Given the description of an element on the screen output the (x, y) to click on. 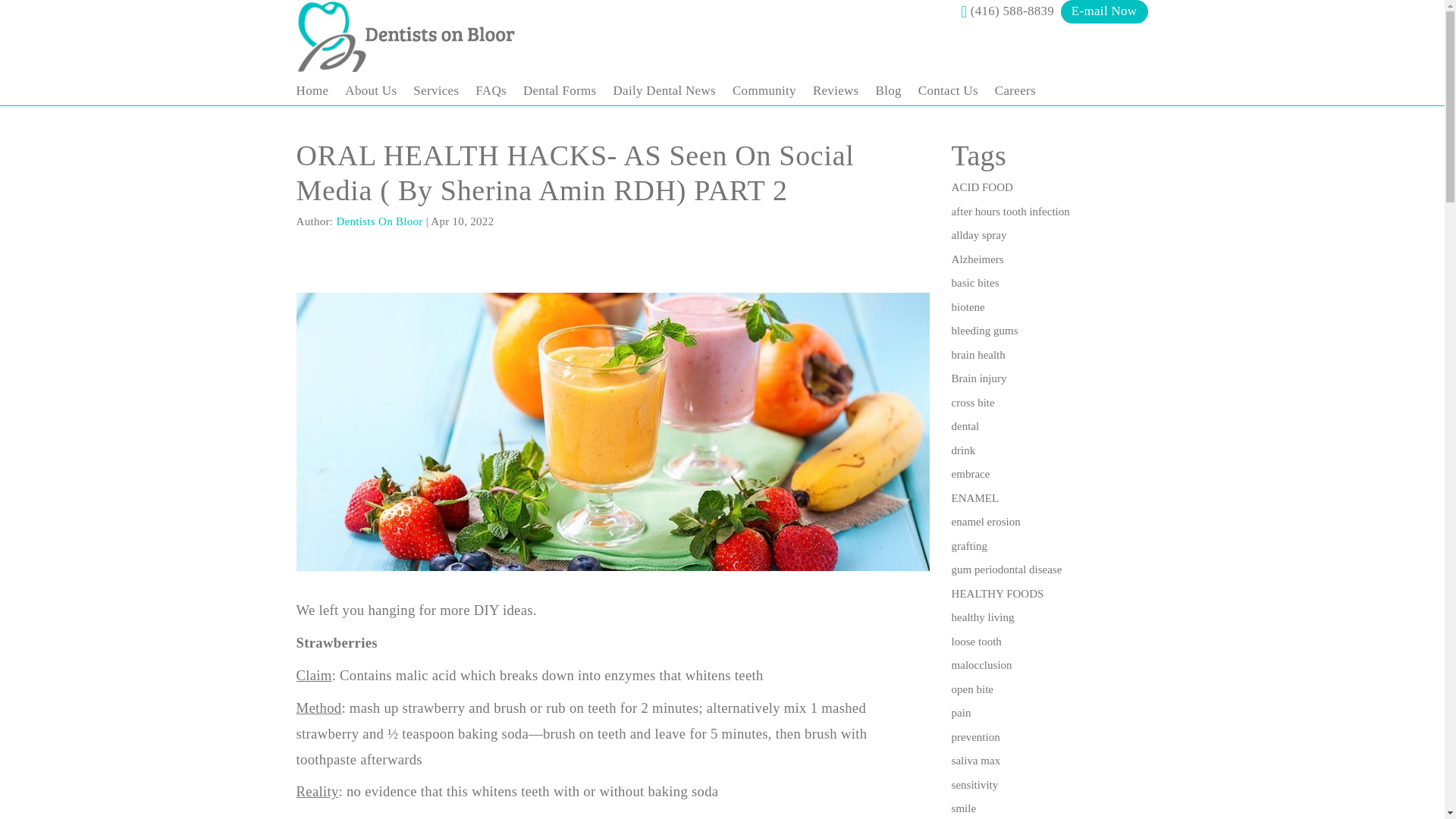
bleeding gums (984, 330)
allday spray (979, 234)
Brain injury (979, 378)
Community (764, 90)
Daily Dental News (664, 90)
Careers (1015, 90)
ACID FOOD (982, 186)
Alzheimers (978, 259)
Services (435, 90)
E-mail Now (1104, 11)
About Us (370, 90)
biotene (968, 306)
embrace (971, 473)
after hours tooth infection (1011, 211)
Contact Us (948, 90)
